Given the description of an element on the screen output the (x, y) to click on. 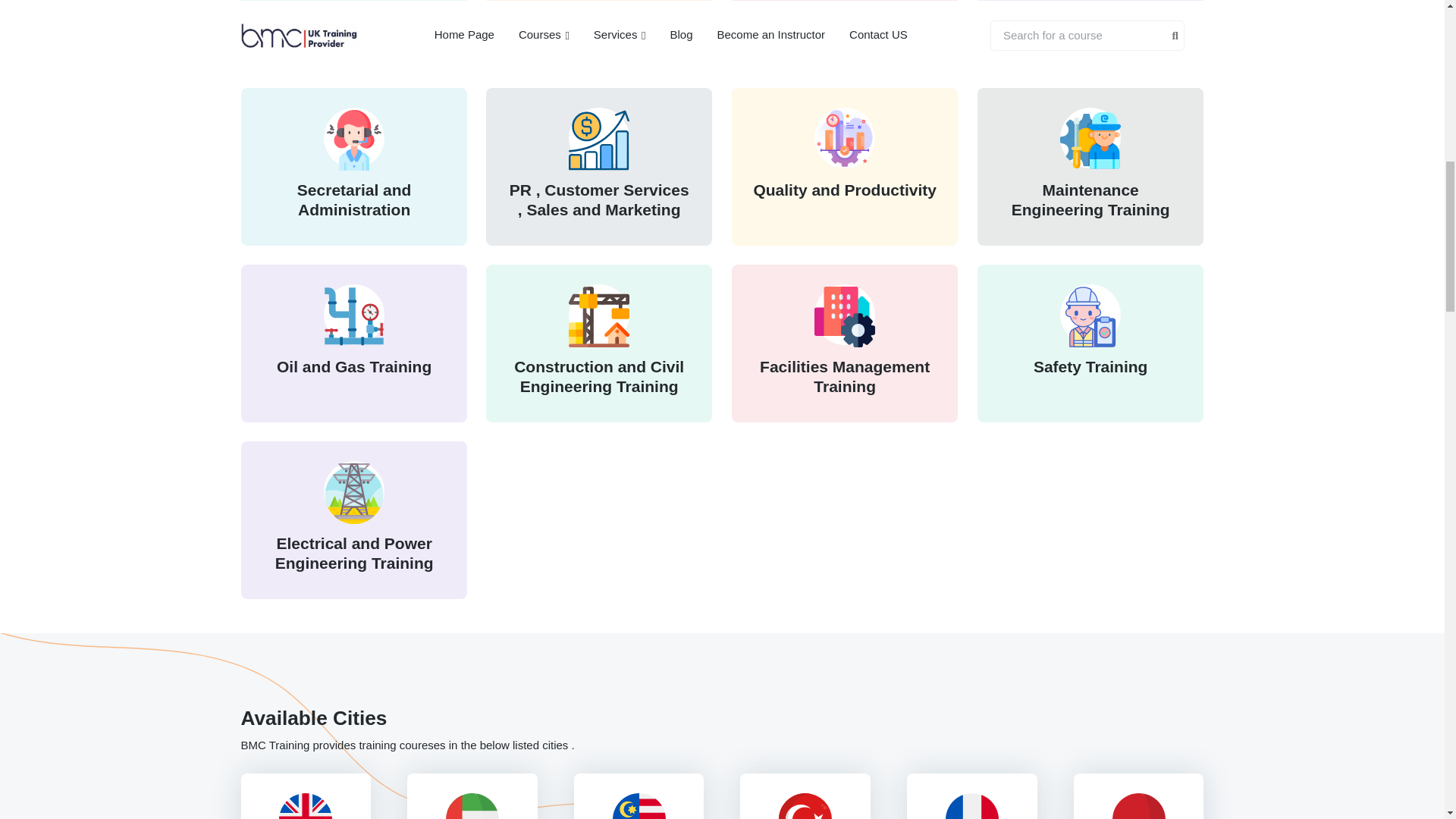
Discover Top training courses in Bali (1138, 805)
Finance , Accounting and Budgeting (599, 22)
Discover Top training courses in London (305, 805)
Discover Top training courses in Paris (972, 805)
Discover Top training courses in Dubai (472, 805)
Discover Top training courses in Istanbul (805, 805)
Discover Top training courses in Kuala Lumpur (639, 805)
Management and Leadership (353, 22)
